Given the description of an element on the screen output the (x, y) to click on. 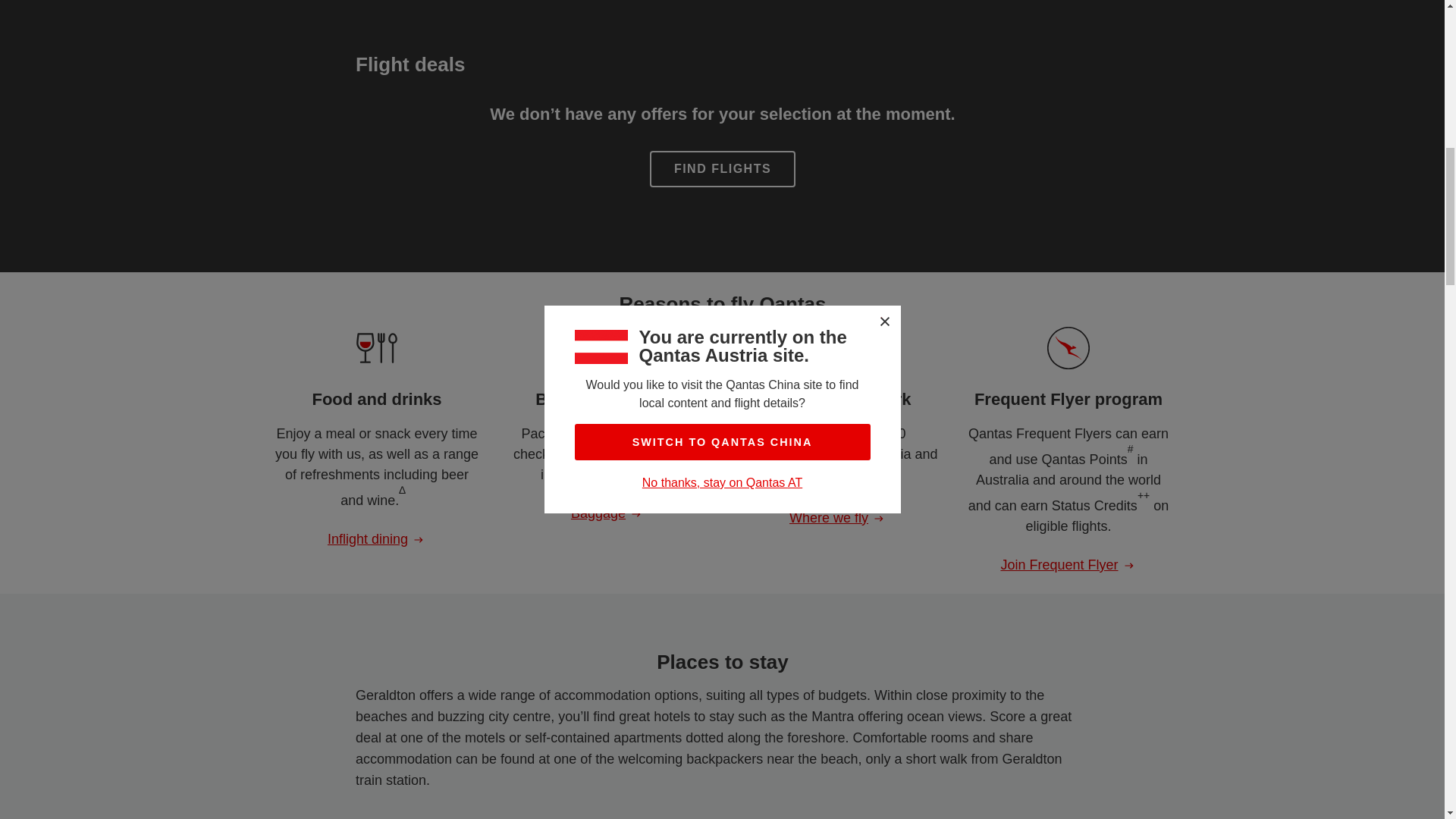
Baggage information (606, 513)
